Given the description of an element on the screen output the (x, y) to click on. 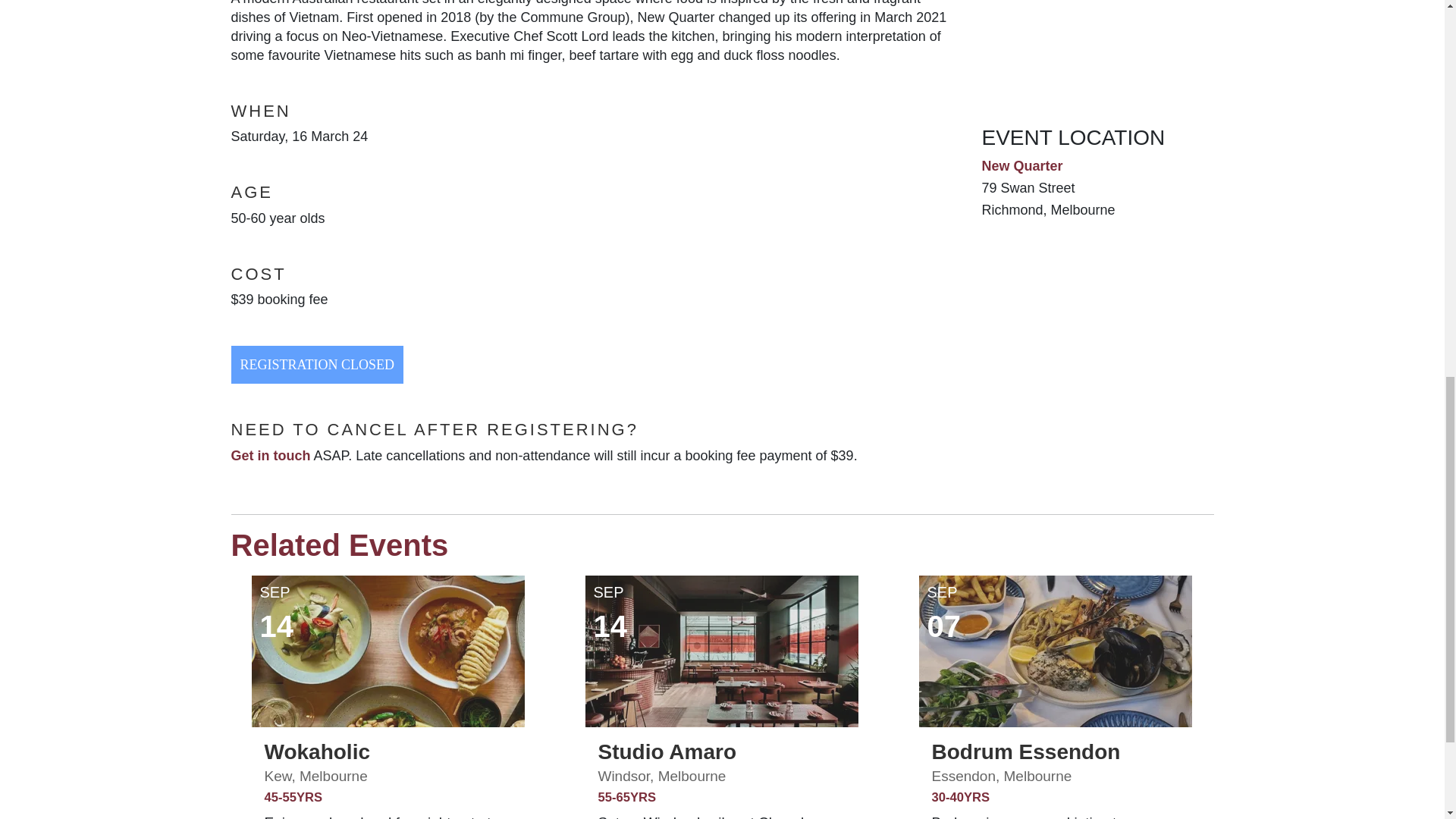
REGISTRATION CLOSED (316, 364)
New Quarter (1021, 165)
Studio Amaro (666, 751)
Get in touch (270, 455)
Bodrum Essendon (1025, 751)
Wokaholic (316, 751)
